Given the description of an element on the screen output the (x, y) to click on. 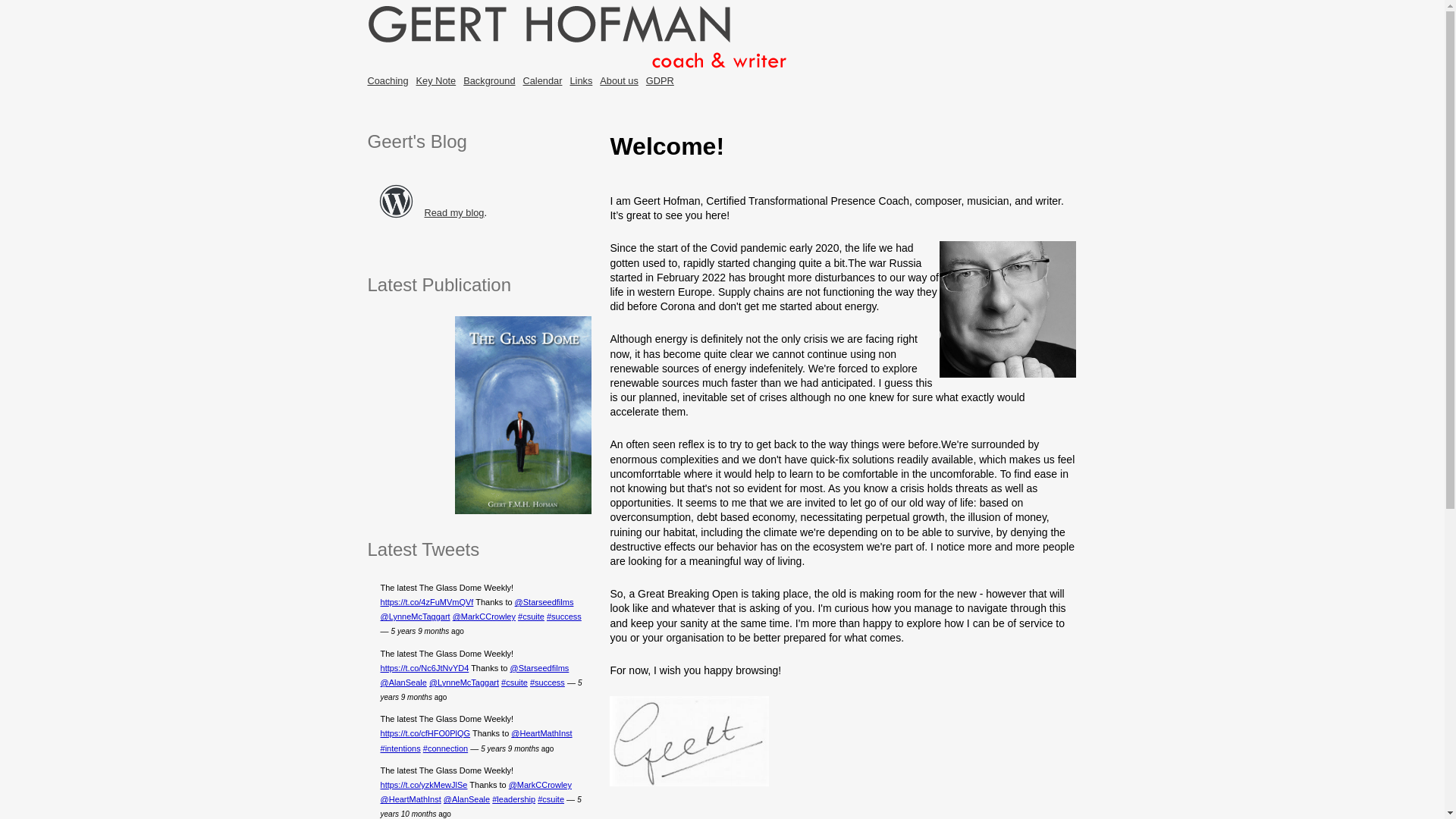
Key Note (436, 80)
Calendar (542, 80)
Read my blog (454, 212)
About us (619, 80)
An overview of interesting links (580, 80)
Calendar (542, 80)
GDPR (660, 80)
Coaching (386, 80)
Coaching (386, 80)
About us (619, 80)
Links (580, 80)
Background (489, 80)
Background (489, 80)
